Given the description of an element on the screen output the (x, y) to click on. 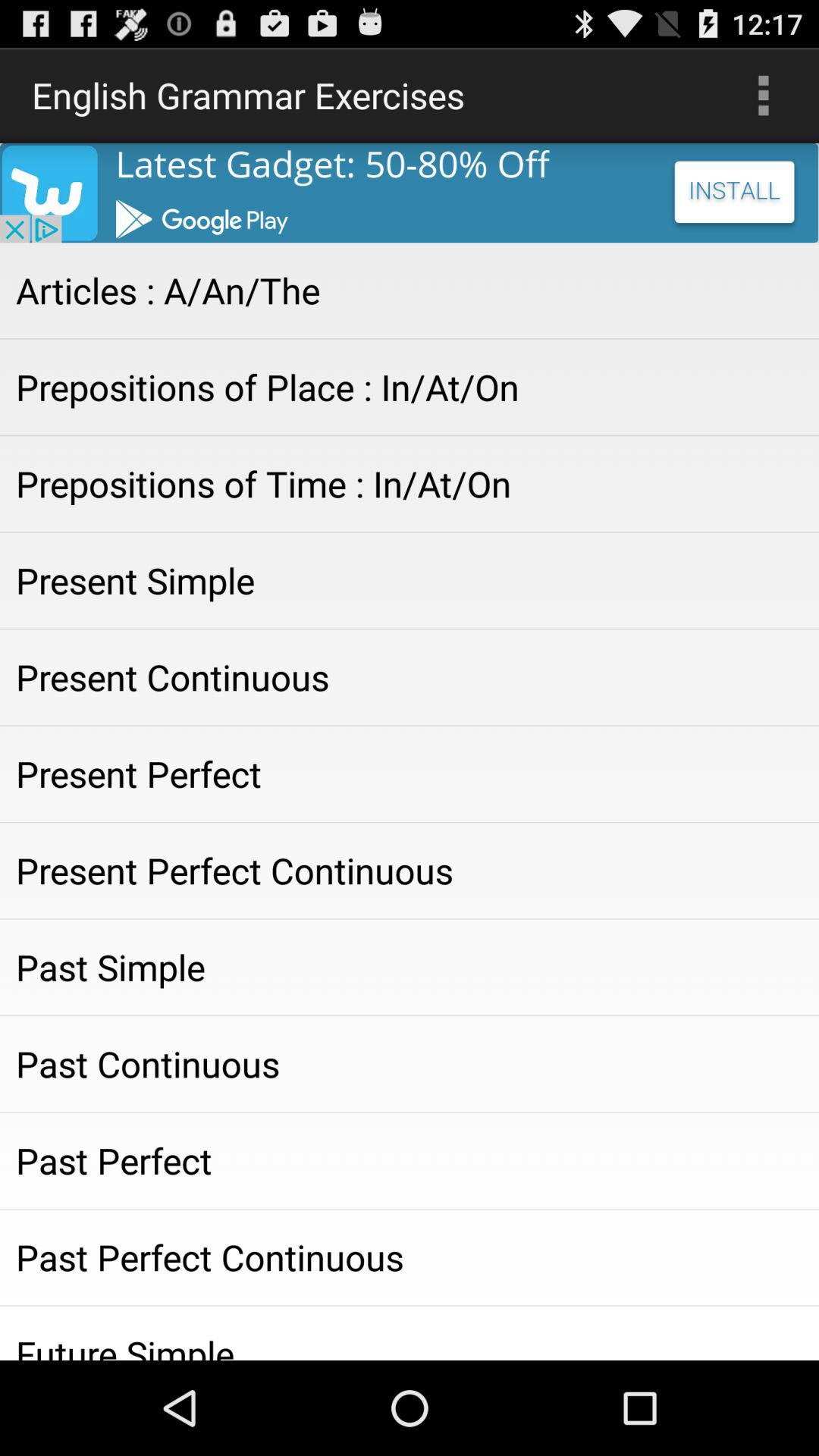
advertisement (409, 192)
